Given the description of an element on the screen output the (x, y) to click on. 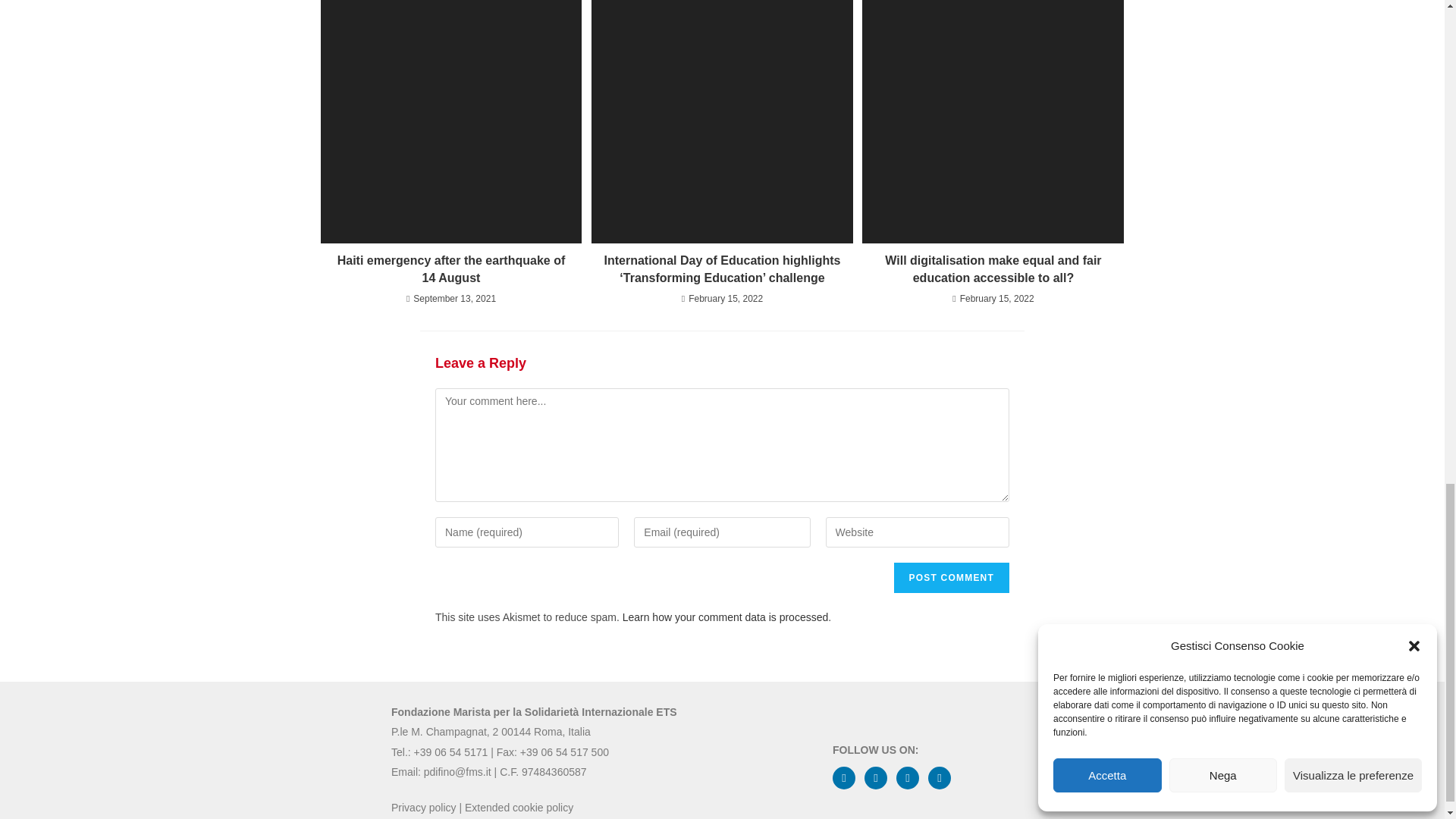
Post Comment (951, 577)
